Given the description of an element on the screen output the (x, y) to click on. 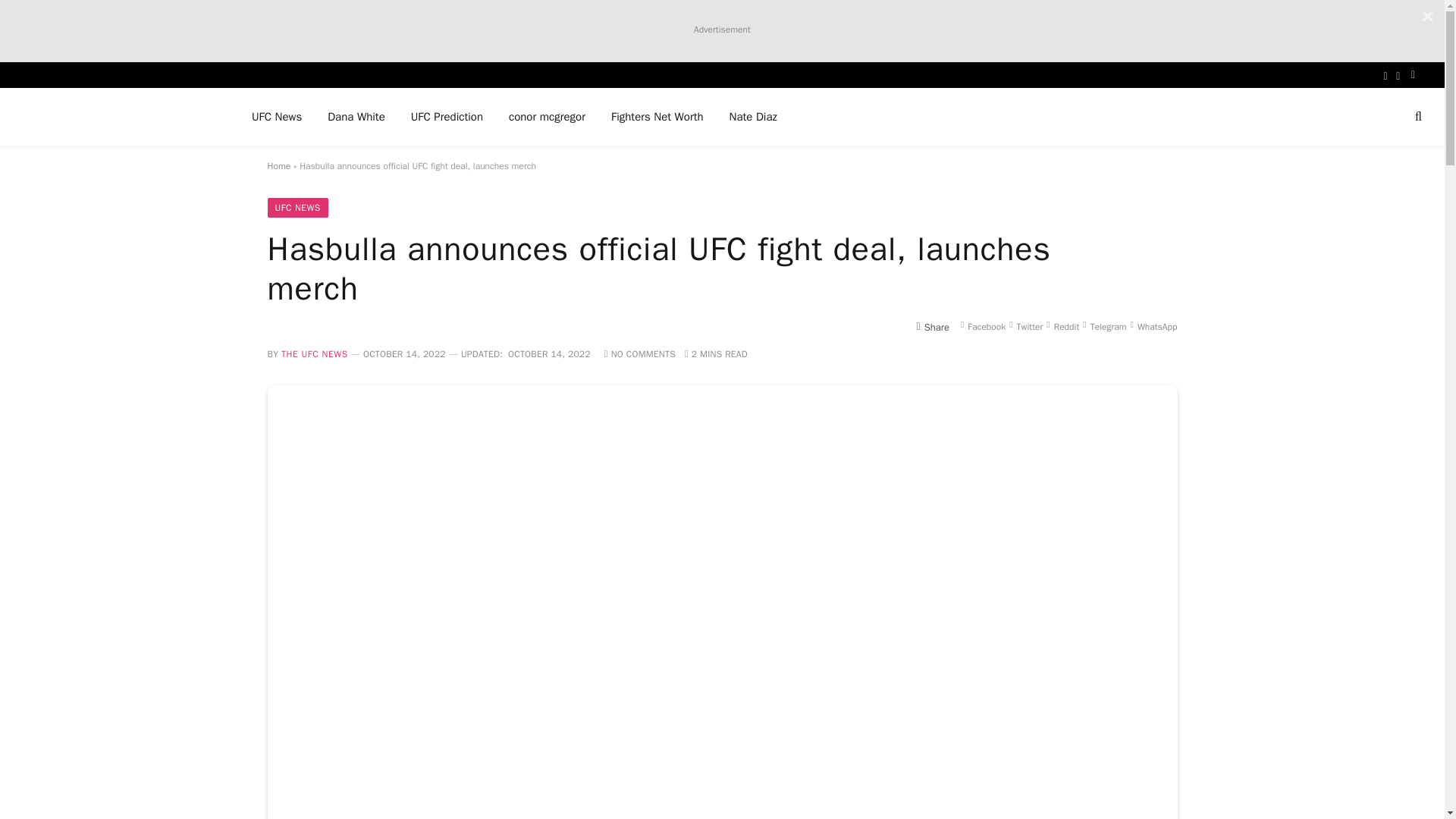
Dana White (355, 116)
UFC Prediction (446, 116)
Fighters Net Worth (657, 116)
THE UFC NEWS (314, 354)
UFC News (276, 116)
NO COMMENTS (639, 354)
conor mcgregor (547, 116)
Posts by THE UFC News (314, 354)
Nate Diaz (753, 116)
UFC NEWS (296, 207)
The UFC News (117, 116)
Home (277, 165)
